Given the description of an element on the screen output the (x, y) to click on. 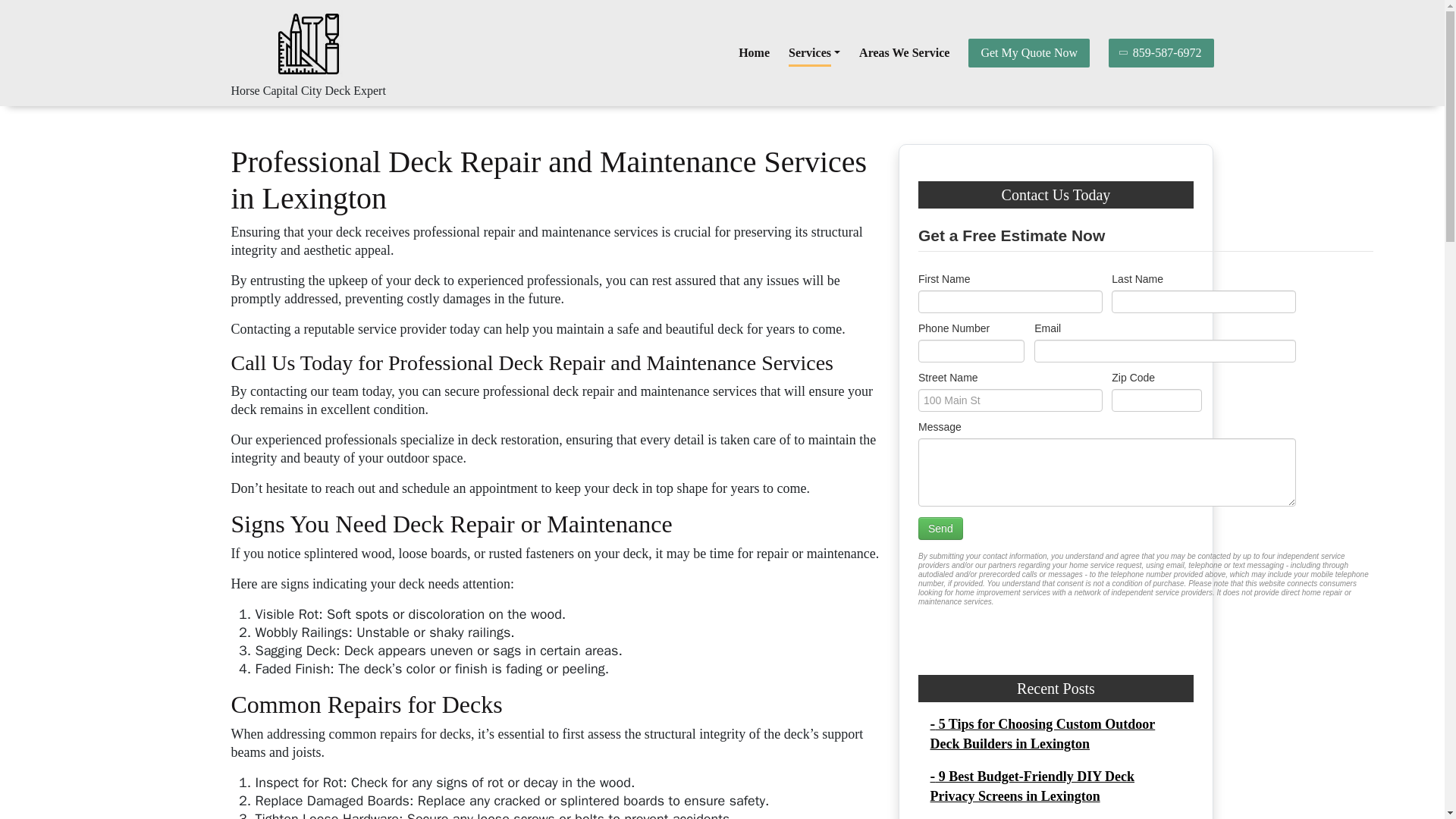
Home (754, 52)
Areas We Service (904, 52)
Services (814, 52)
859-587-6972 (1161, 52)
Services (814, 52)
Home (754, 52)
Areas We Service (904, 52)
Get My Quote Now (1028, 52)
